Given the description of an element on the screen output the (x, y) to click on. 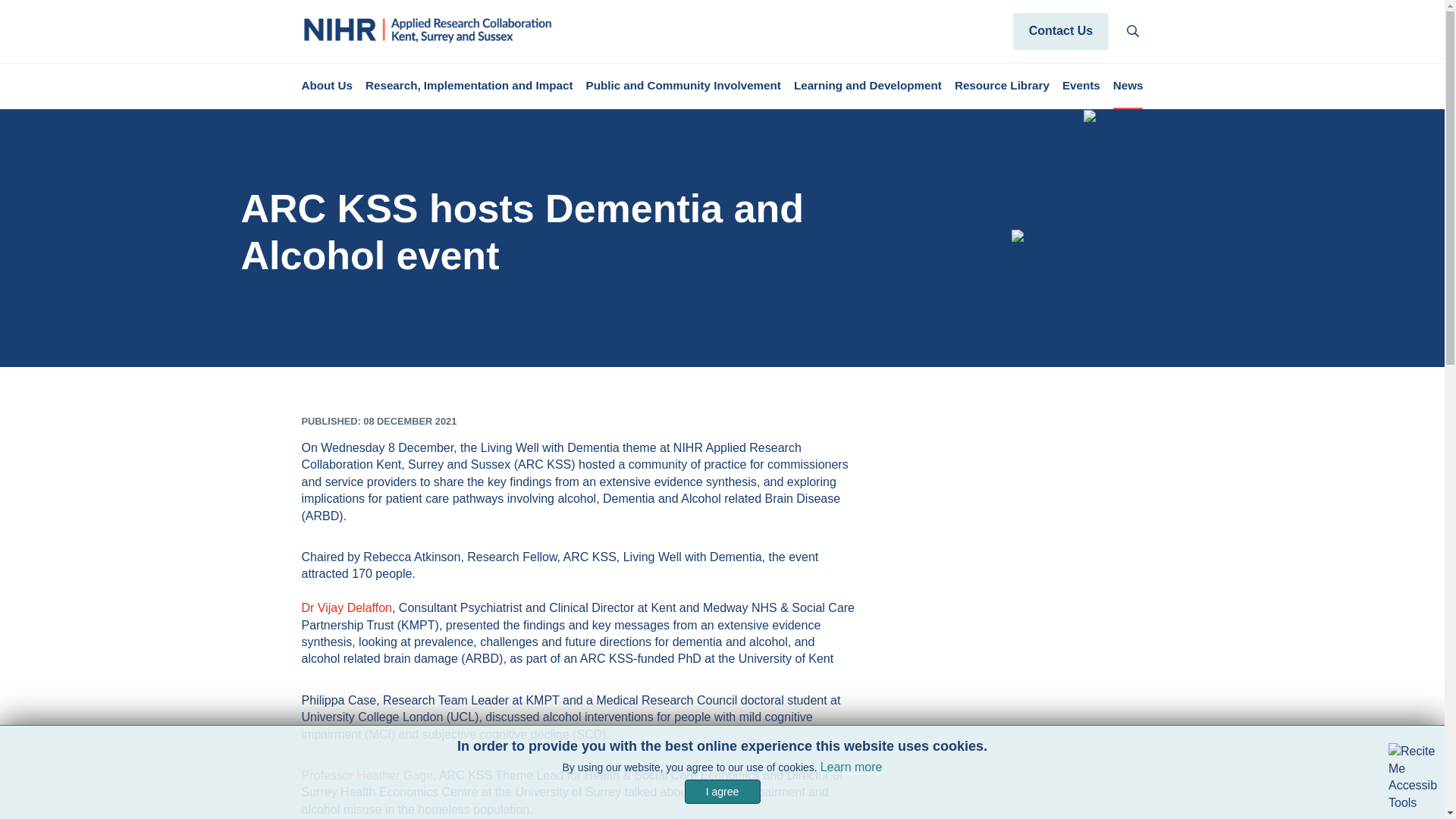
Applied Research Collaboration - Kent, Surrey and Sussex (427, 30)
